Given the description of an element on the screen output the (x, y) to click on. 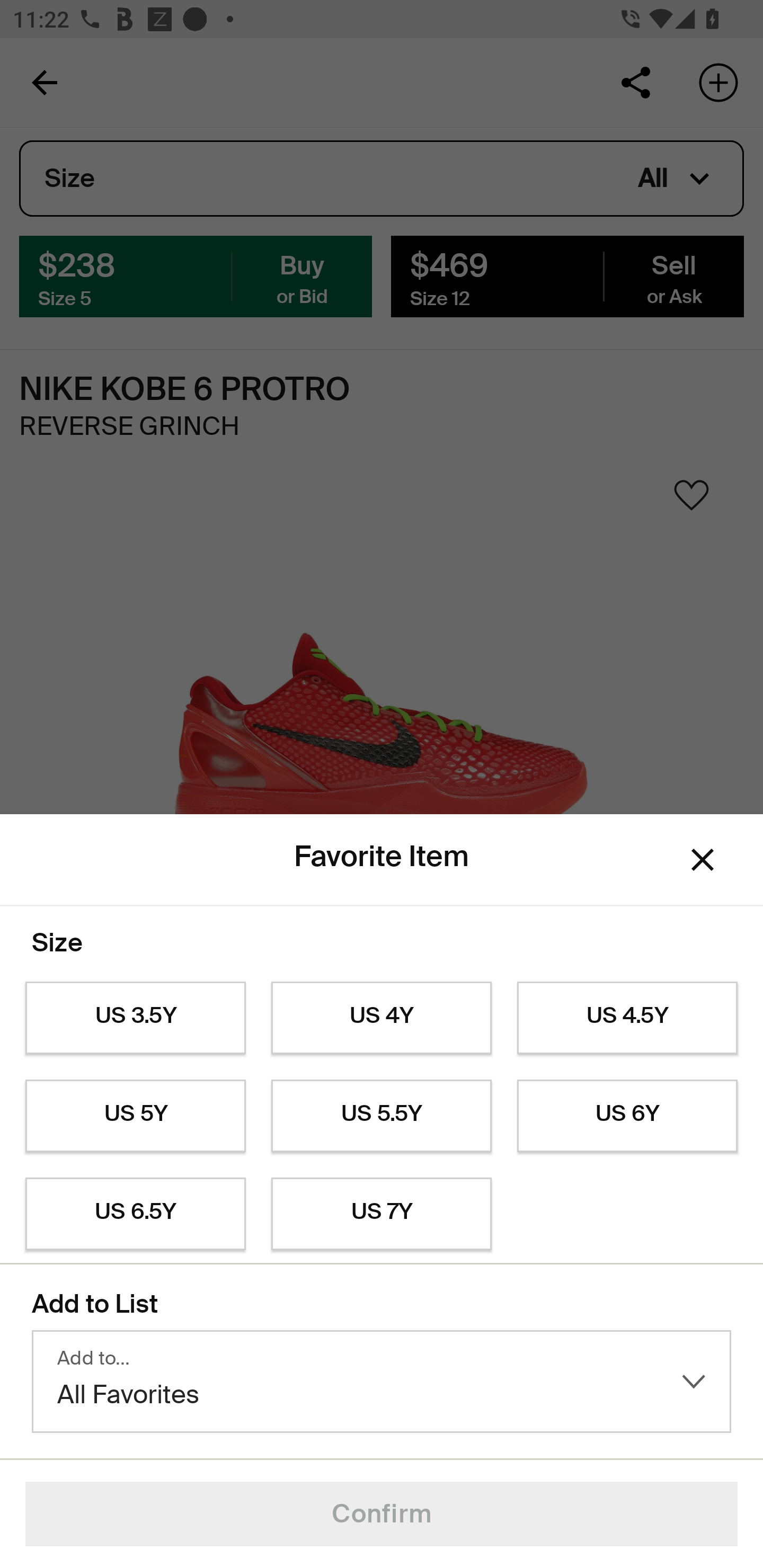
Dismiss (702, 859)
US 3.5Y (135, 1018)
US 4Y (381, 1018)
US 4.5Y (627, 1018)
US 5Y (135, 1116)
US 5.5Y (381, 1116)
US 6Y (627, 1116)
US 6.5Y (135, 1214)
US 7Y (381, 1214)
Add to… All Favorites (381, 1381)
Confirm (381, 1513)
